Given the description of an element on the screen output the (x, y) to click on. 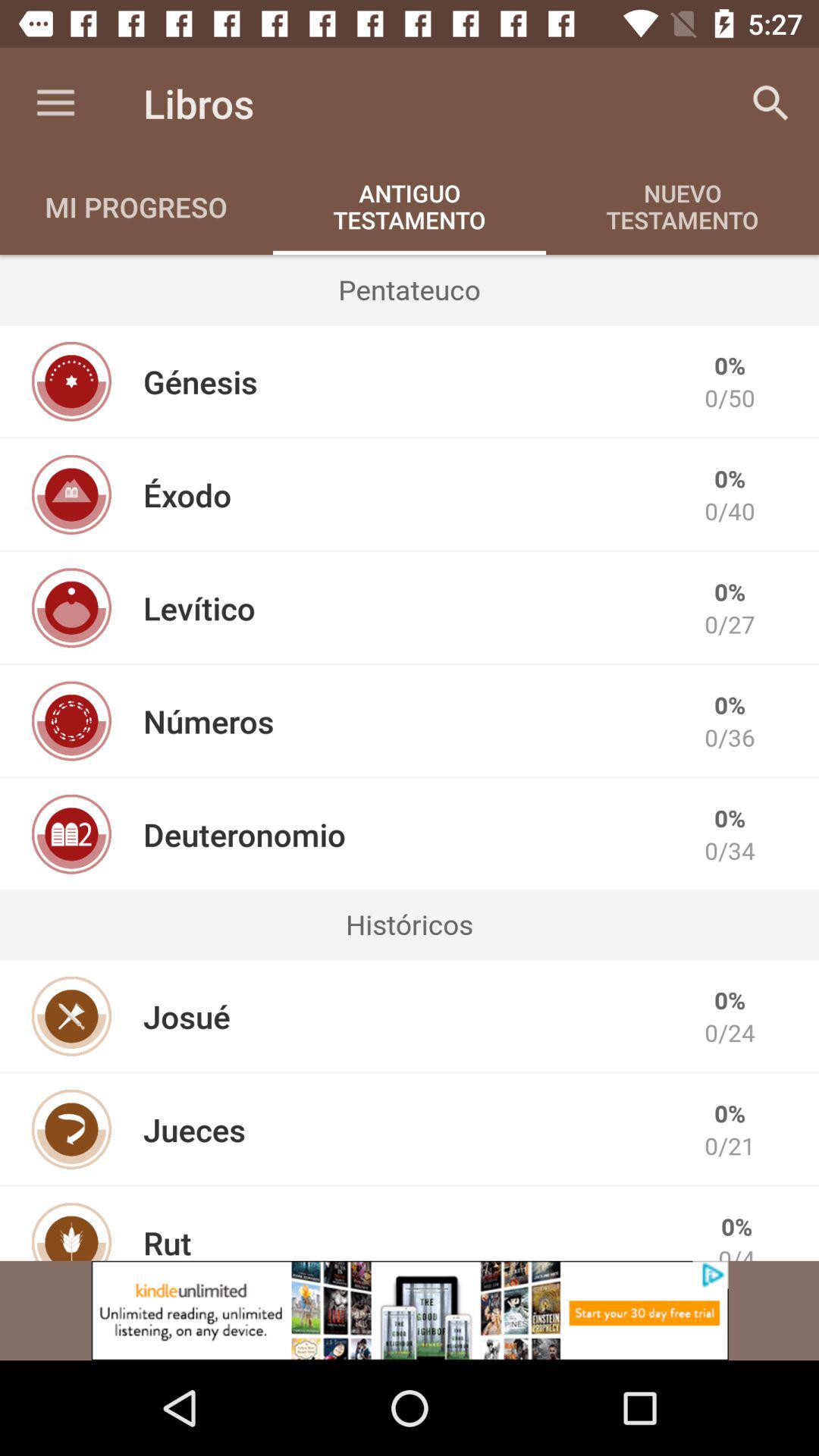
press the icon next to the 0/4 icon (167, 1240)
